Given the description of an element on the screen output the (x, y) to click on. 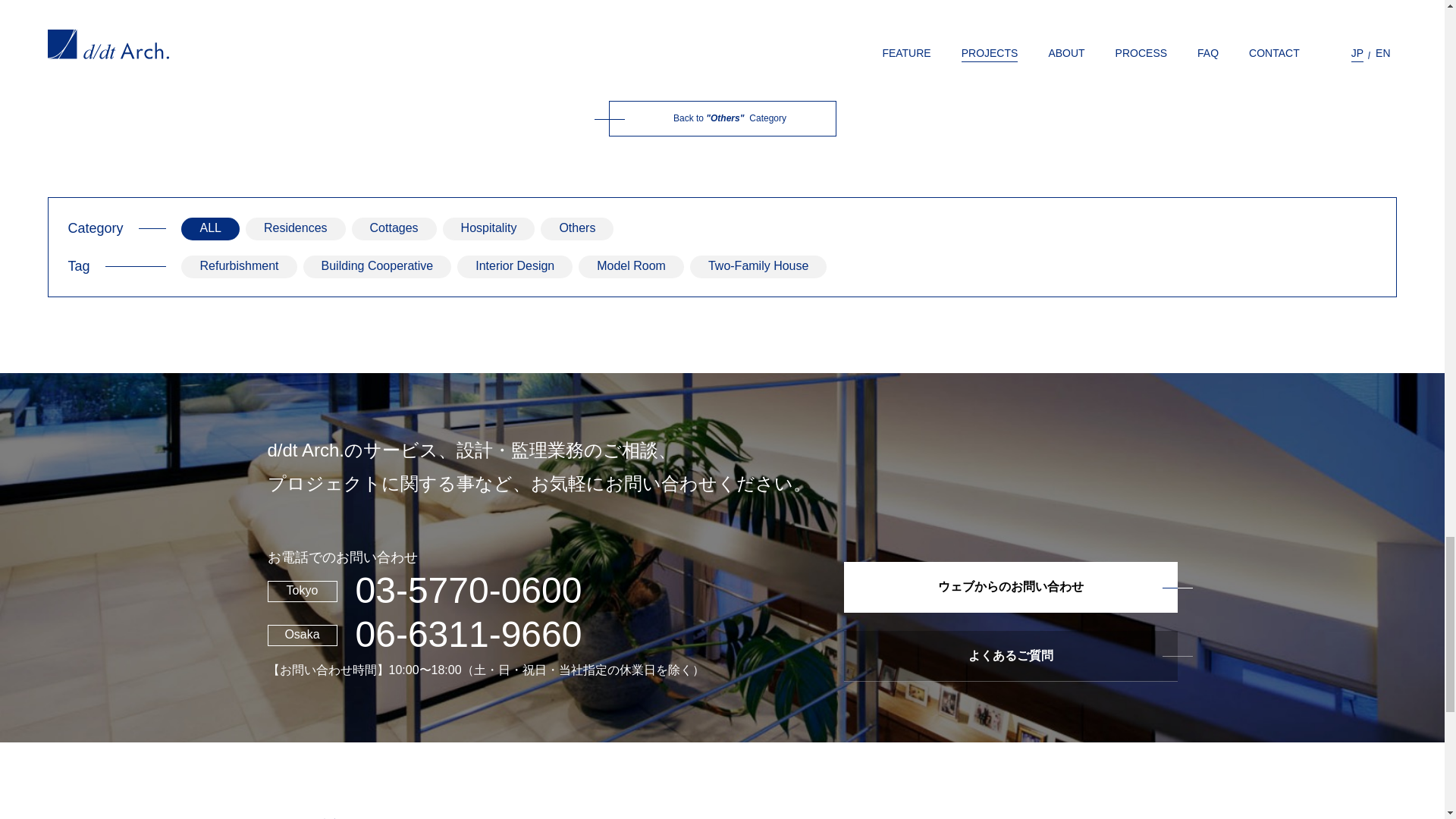
Two-Family House (758, 265)
Hospitality (488, 228)
Cottages (394, 228)
ALL (209, 228)
Interior Design (514, 265)
03-5770-0600 (467, 590)
Others (576, 228)
Building Cooperative (376, 265)
Residences (296, 228)
Back to "Others" Category (721, 118)
Refurbishment (238, 265)
Model Room (631, 265)
